Given the description of an element on the screen output the (x, y) to click on. 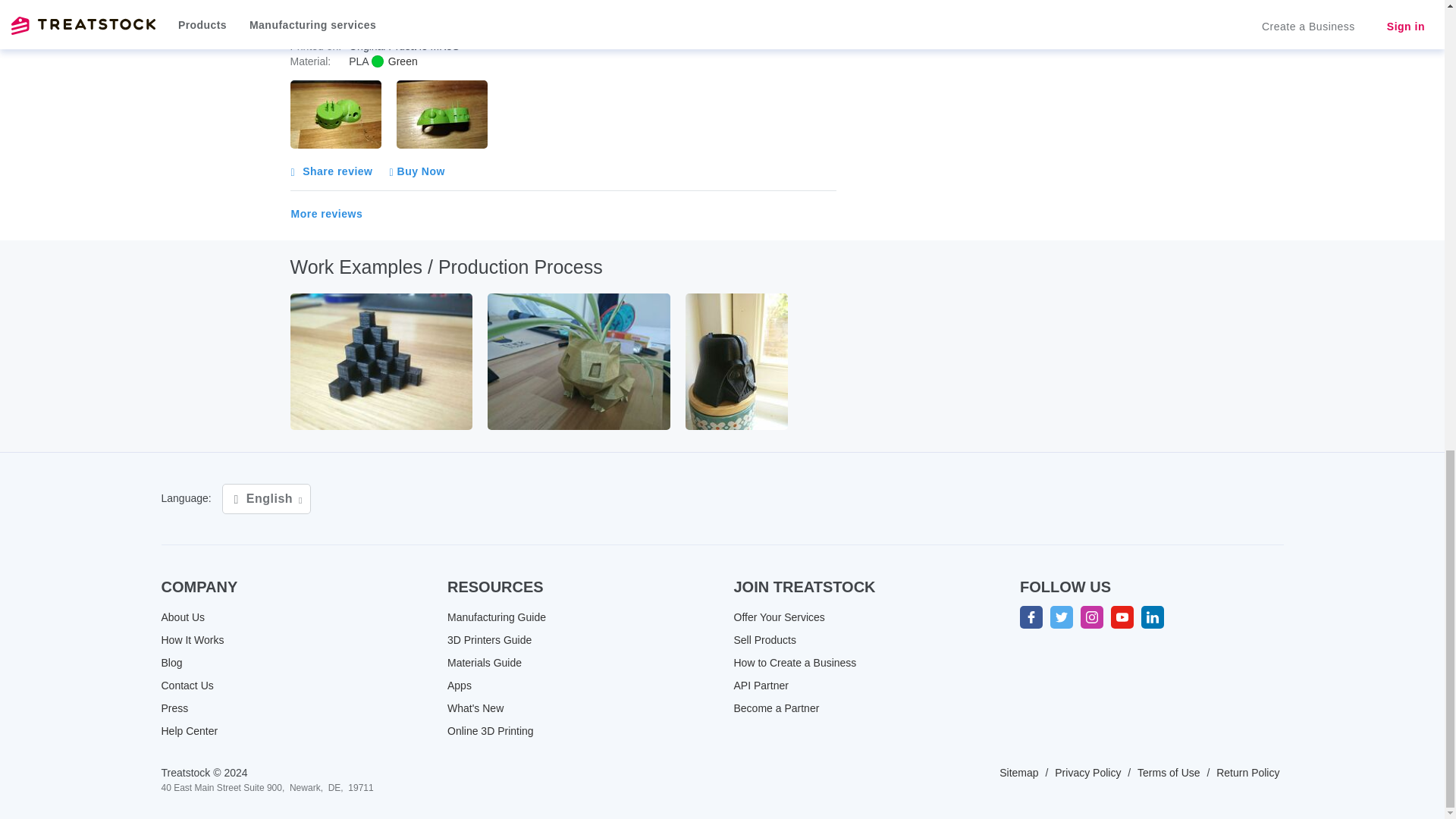
YouTube (1122, 617)
Instagram (1091, 617)
LinkedIn (1152, 617)
Twitter (1061, 617)
PLA (394, 61)
Facebook (1031, 617)
